Given the description of an element on the screen output the (x, y) to click on. 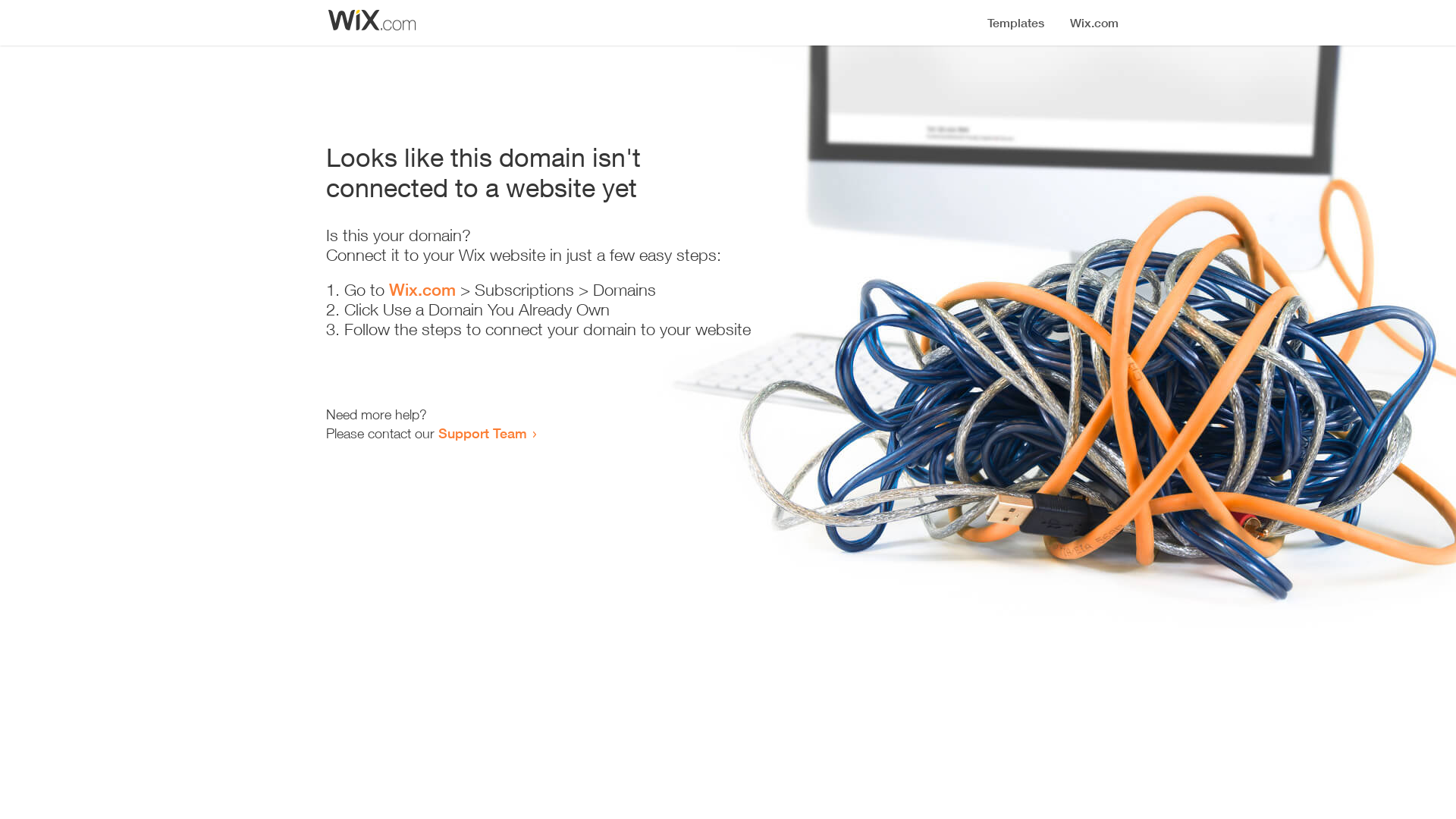
Wix.com Element type: text (422, 289)
Support Team Element type: text (482, 432)
